Given the description of an element on the screen output the (x, y) to click on. 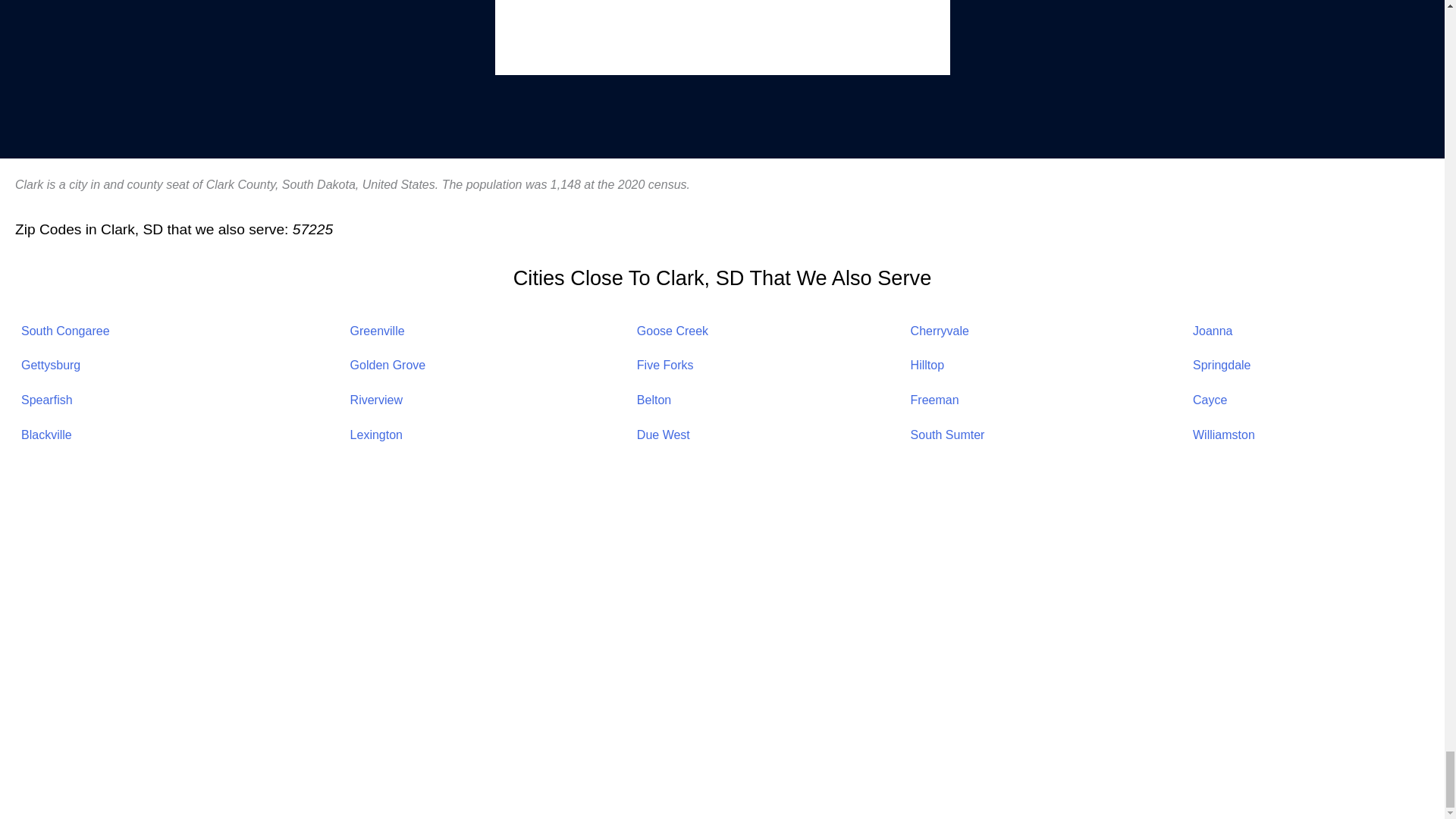
South Congaree (65, 330)
Greenville (377, 330)
Golden Grove (388, 364)
Gettysburg (50, 364)
Joanna (1212, 330)
Goose Creek (672, 330)
Cherryvale (940, 330)
Five Forks (665, 364)
